Given the description of an element on the screen output the (x, y) to click on. 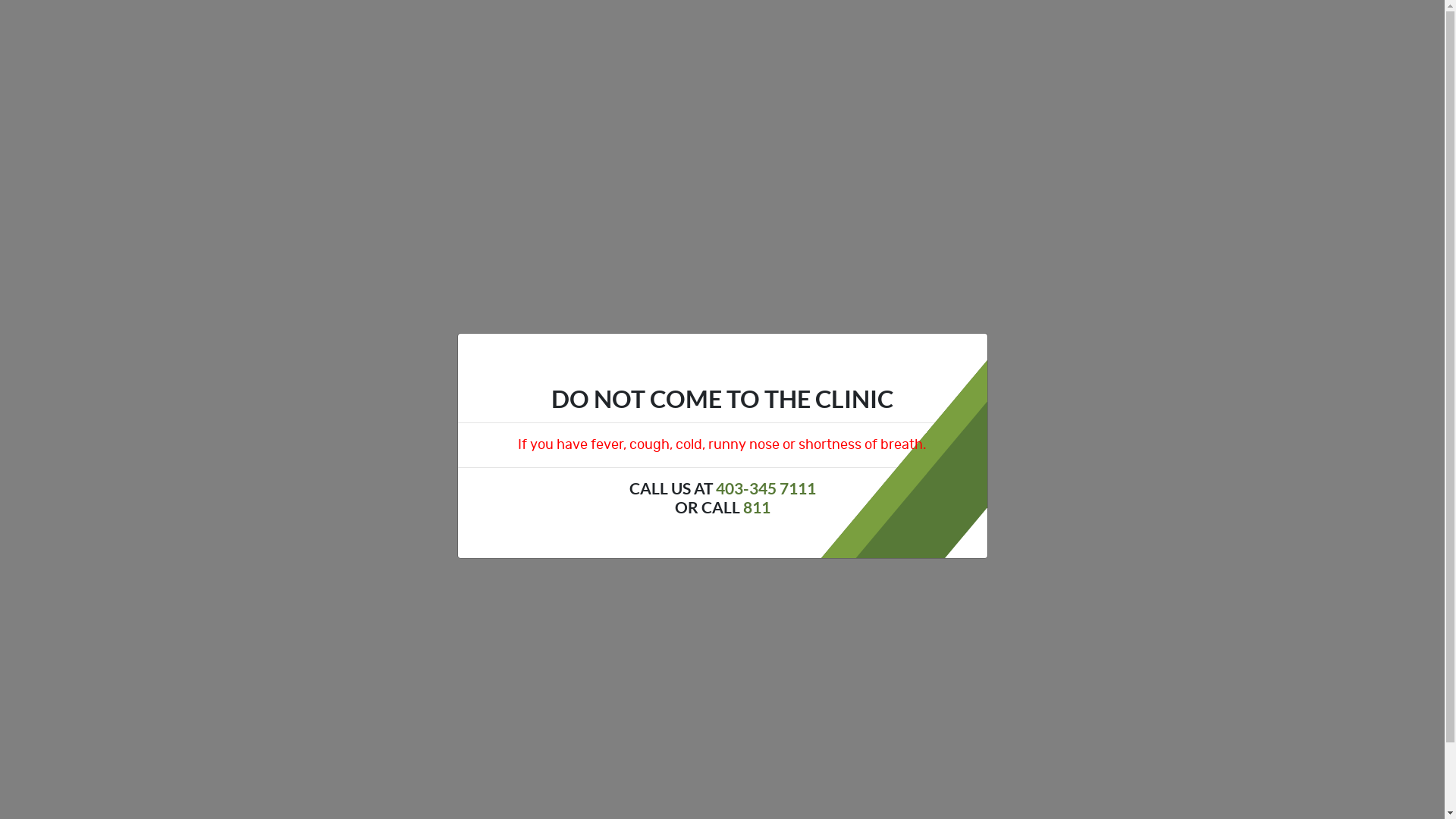
family Physicians Element type: text (1171, 450)
About Element type: text (488, 33)
811 Element type: text (756, 507)
Clinic Policies Element type: text (181, 33)
BOOK AN APPOINTMENT Element type: text (1356, 36)
Health Links Element type: text (361, 33)
Home Element type: text (67, 33)
Gallery Element type: text (301, 33)
403-345 7111 Element type: text (765, 488)
Services Element type: text (248, 33)
Contact Us Element type: text (433, 33)
Booking Element type: text (114, 33)
